Given the description of an element on the screen output the (x, y) to click on. 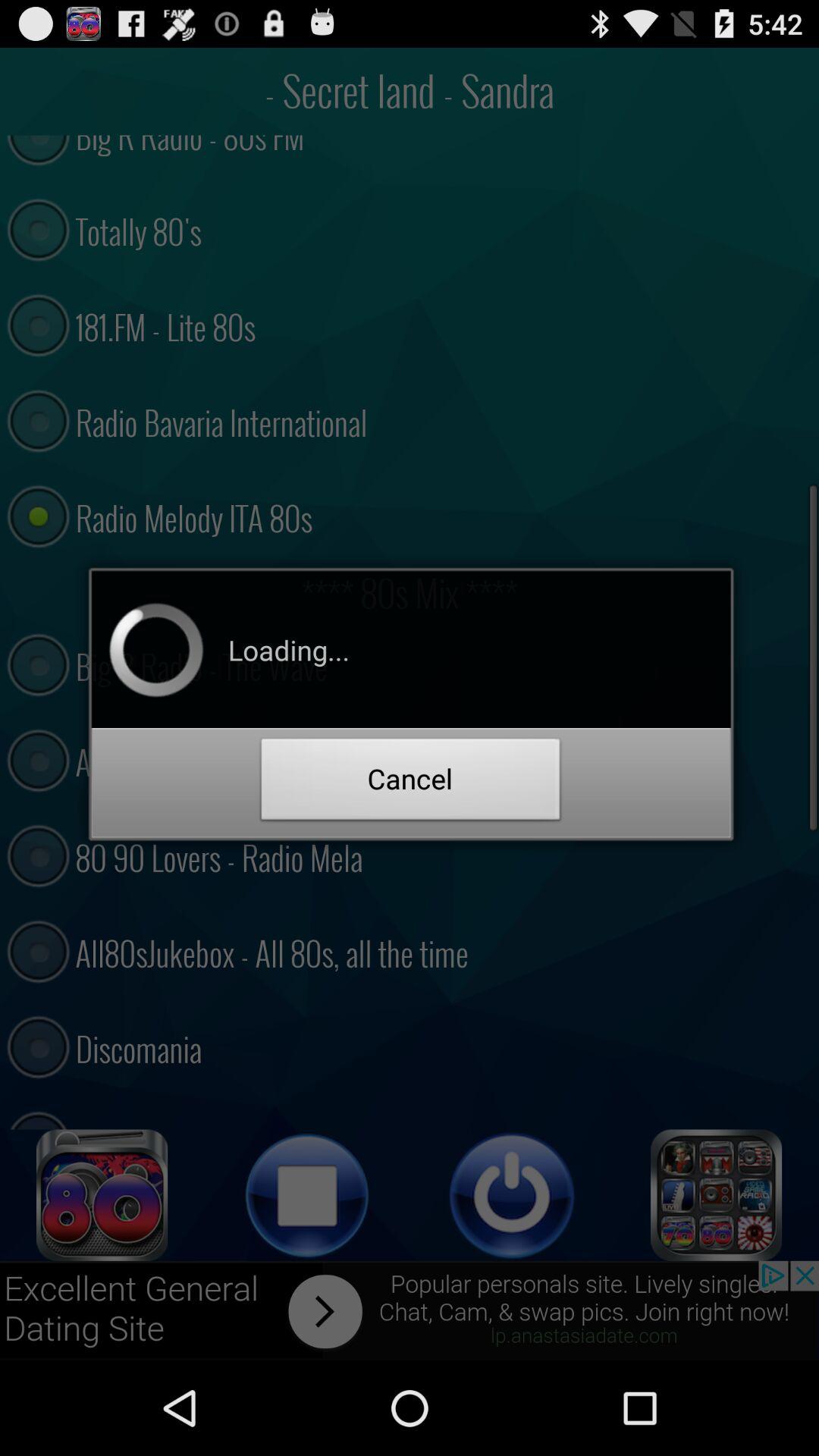
exit (511, 1194)
